Given the description of an element on the screen output the (x, y) to click on. 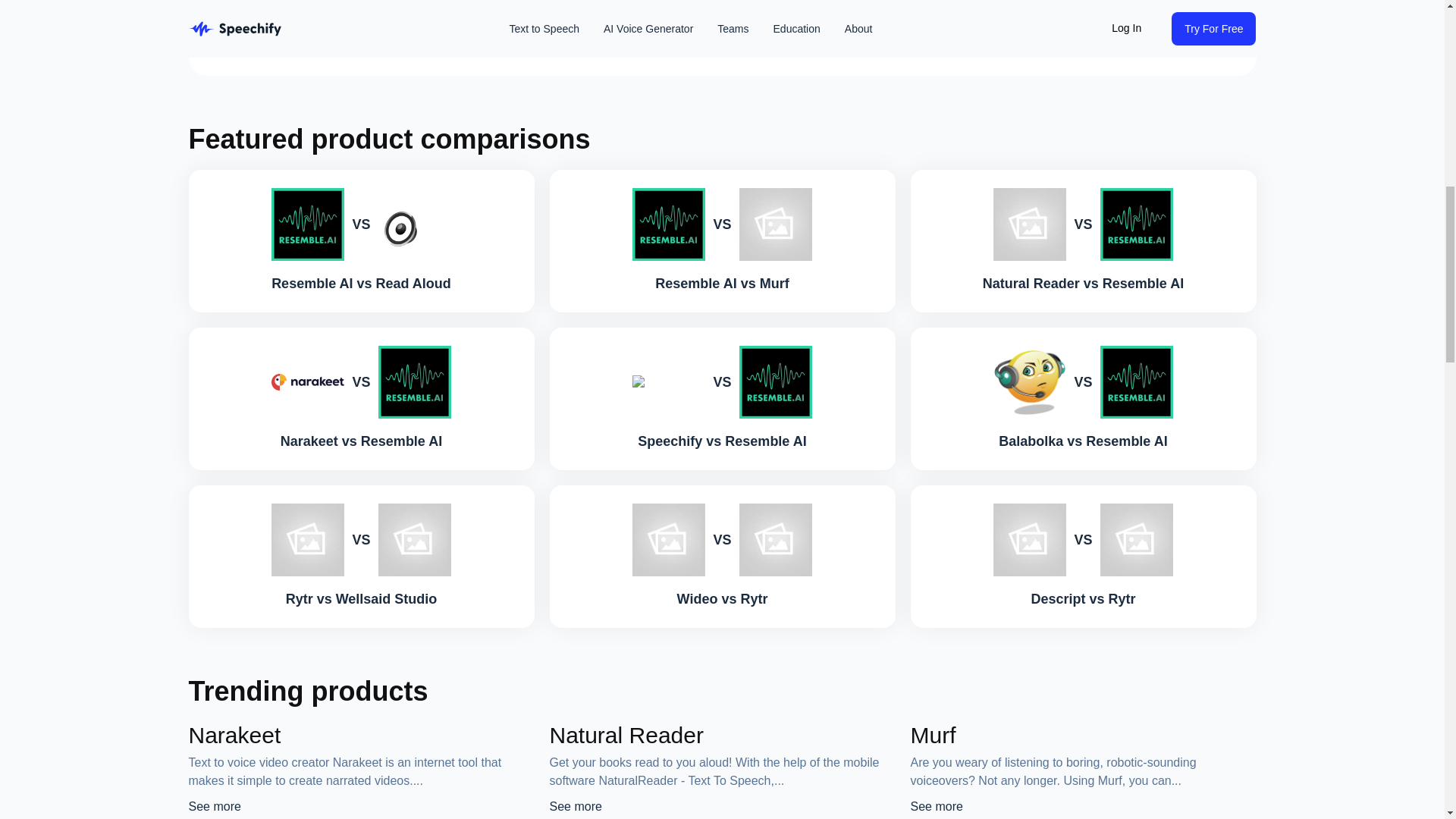
Descript vs Rytr (1082, 598)
Resemble AI vs Read Aloud (360, 283)
Murf (932, 734)
Narakeet vs Resemble AI (361, 441)
Rytr vs Wellsaid Studio (361, 598)
Natural Reader vs Resemble AI (1082, 283)
Speechify vs Resemble AI (721, 441)
Wideo vs Rytr (722, 598)
Try For Free (326, 21)
Narakeet (234, 734)
